Given the description of an element on the screen output the (x, y) to click on. 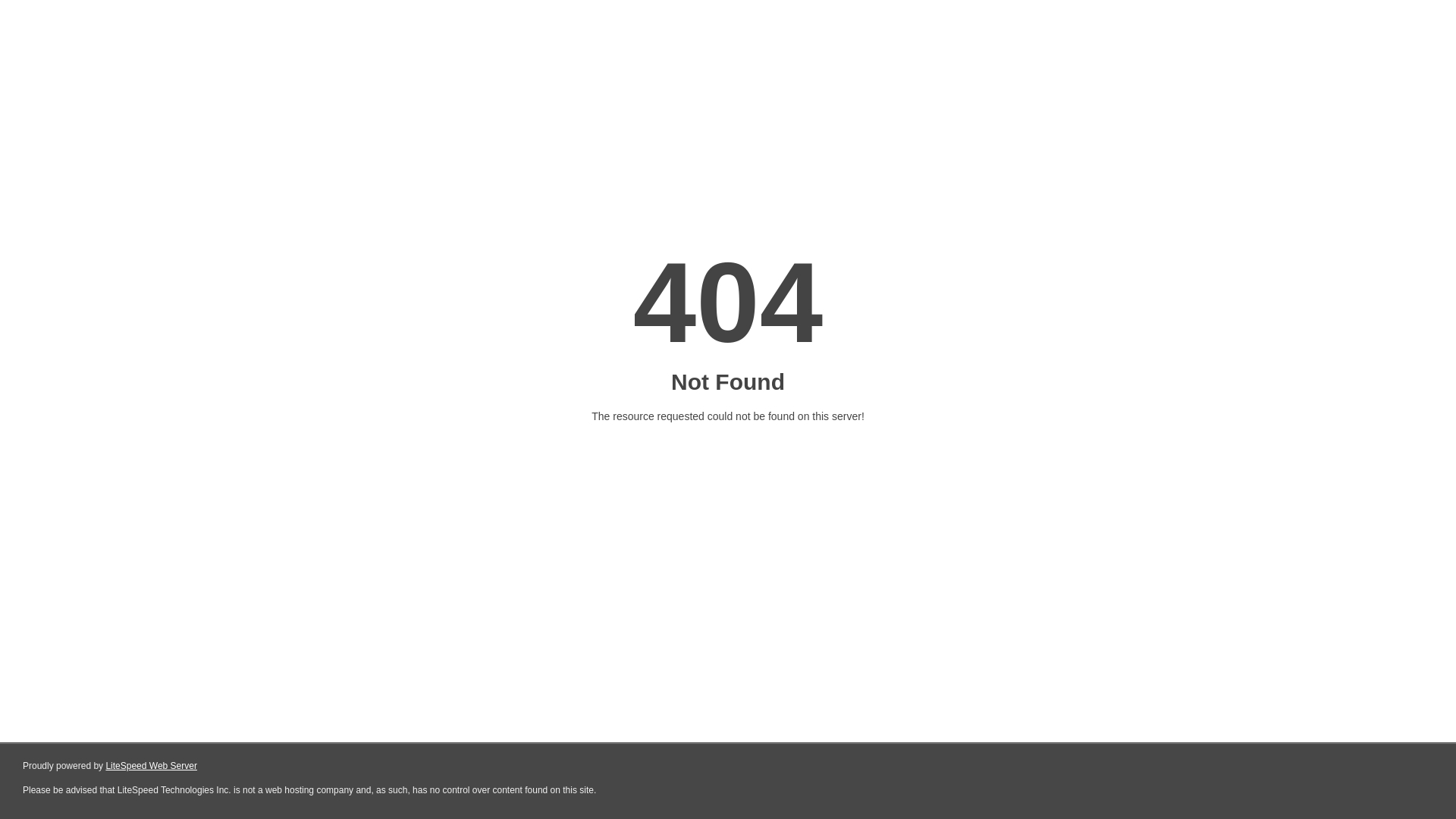
LiteSpeed Web Server Element type: text (151, 765)
